Given the description of an element on the screen output the (x, y) to click on. 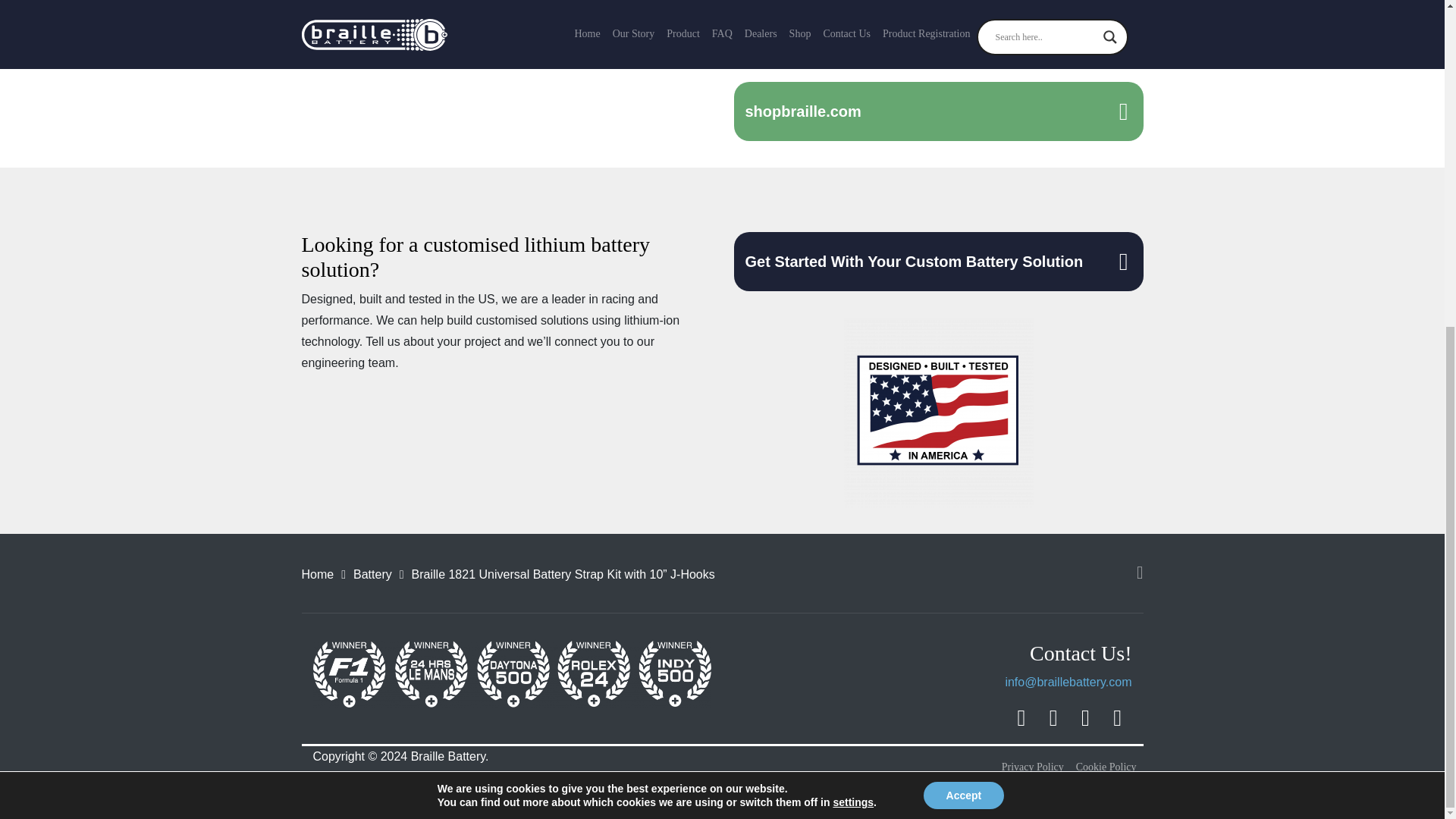
Accept (963, 257)
Battery (372, 574)
Dealers (937, 27)
Designed Built Tested in America logo rectangle (937, 411)
Home (317, 574)
Find Dealer (937, 27)
settings (852, 264)
shopbraille.com (937, 110)
shopbraille (937, 110)
Get Started With Your Custom Battery Solution (937, 261)
